Given the description of an element on the screen output the (x, y) to click on. 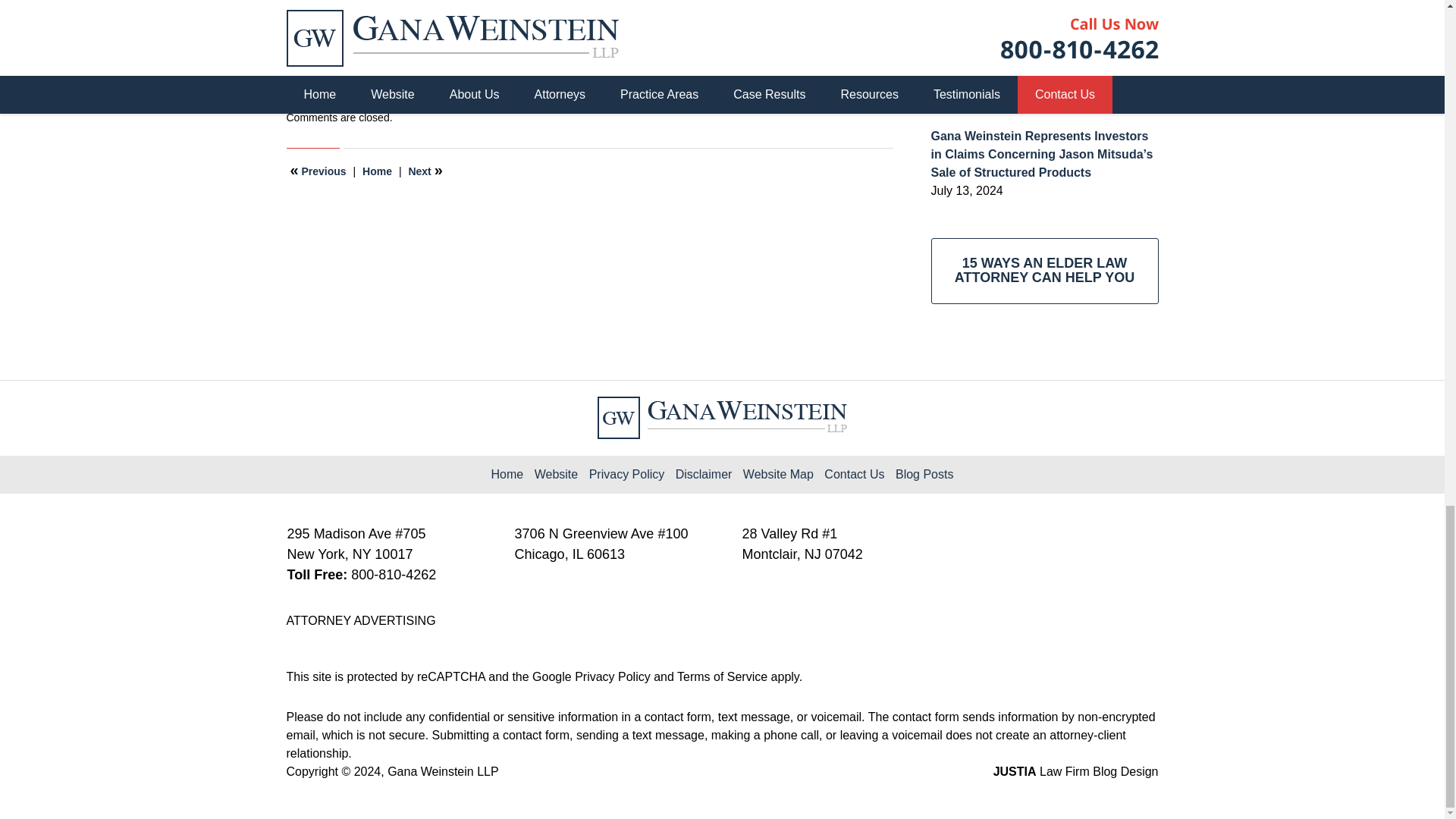
World Capital Brokerage (670, 101)
Advisor Daniel  Levine Barred Over Claims of Misconduct (318, 170)
View all posts in Securities Lawyer (381, 85)
annuity attorney (367, 101)
Securities Lawyer (381, 85)
Mark Lamendola (541, 101)
View all posts tagged with annuity attorney (367, 101)
Home (377, 170)
View all posts tagged with World Capital Brokerage (670, 101)
